Given the description of an element on the screen output the (x, y) to click on. 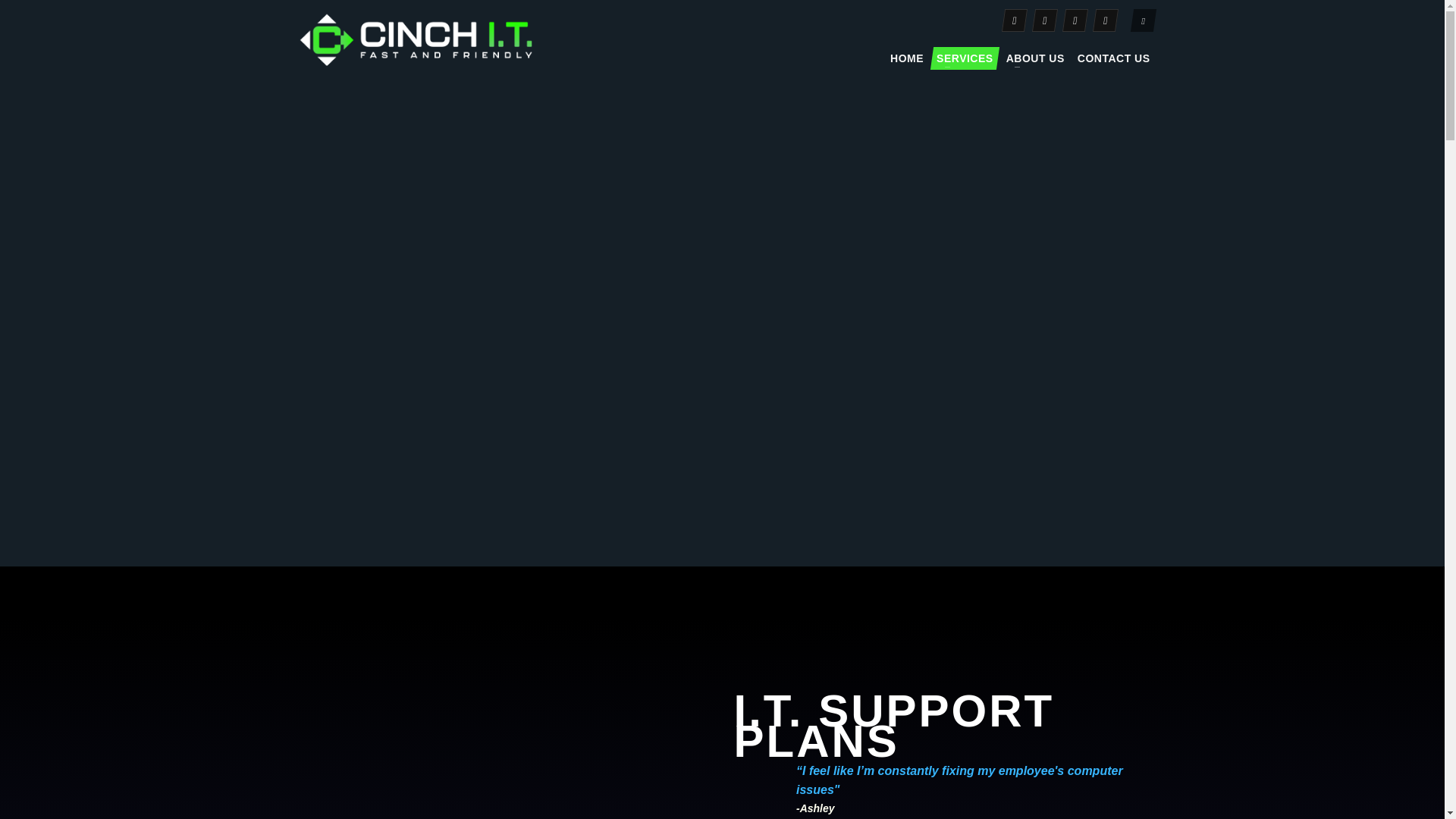
HOME (906, 57)
SERVICES (964, 57)
Instagram (1042, 20)
CONTACT US (1113, 57)
ABOUT US (1034, 57)
Linkedin (1072, 20)
facebook (1012, 20)
Youtube (1103, 20)
